Given the description of an element on the screen output the (x, y) to click on. 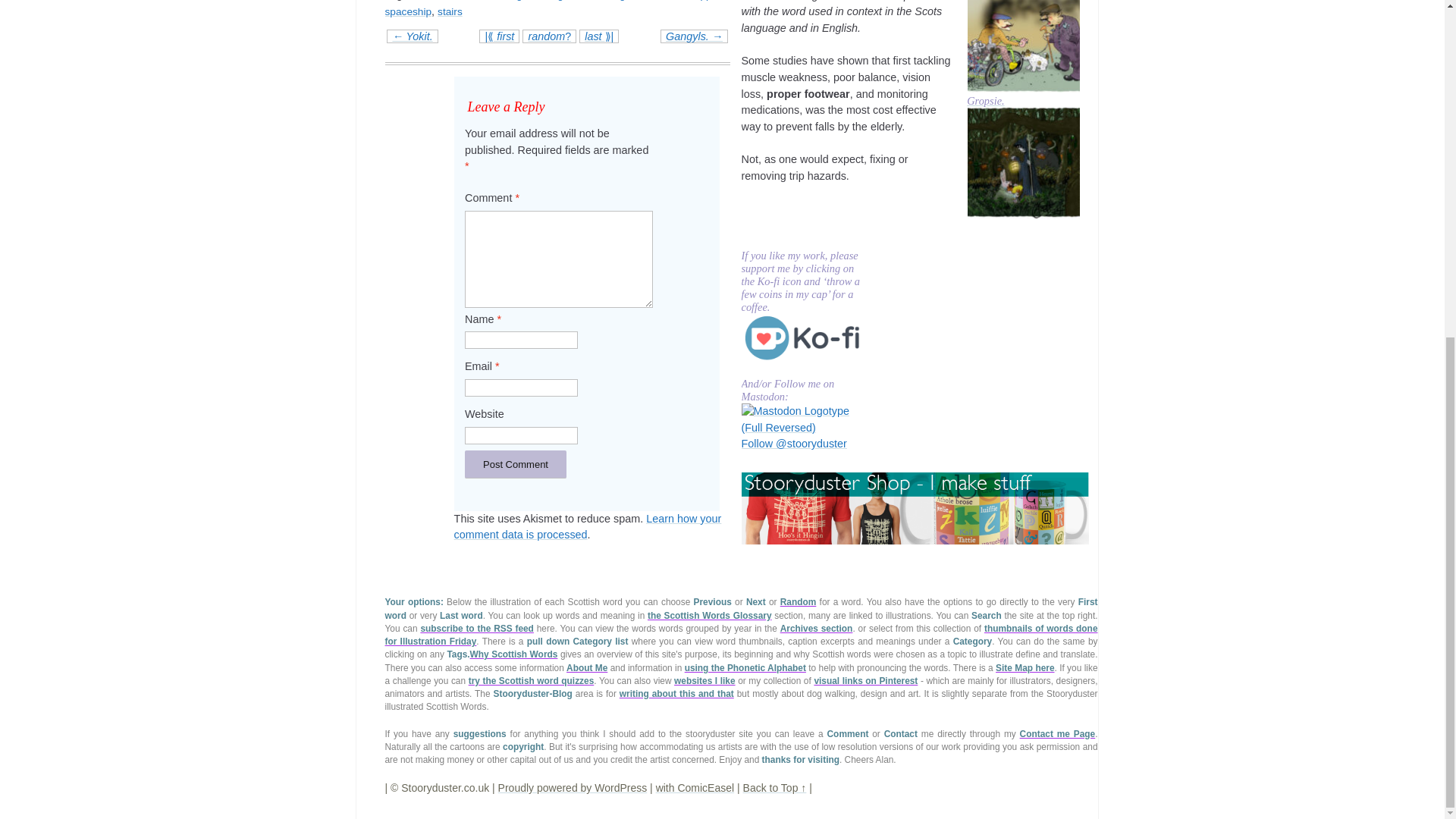
saucers (665, 1)
bottle (464, 1)
Go to the latest word. (598, 36)
Post Comment (515, 464)
Post Comment (515, 464)
Go to the very first word. (498, 36)
bald (429, 1)
spaceship (408, 11)
stairs (450, 11)
Go to a word at random. (548, 36)
Learn how your comment data is processed (588, 526)
refugees (621, 1)
castle (497, 1)
random? (548, 36)
grandad (576, 1)
